Given the description of an element on the screen output the (x, y) to click on. 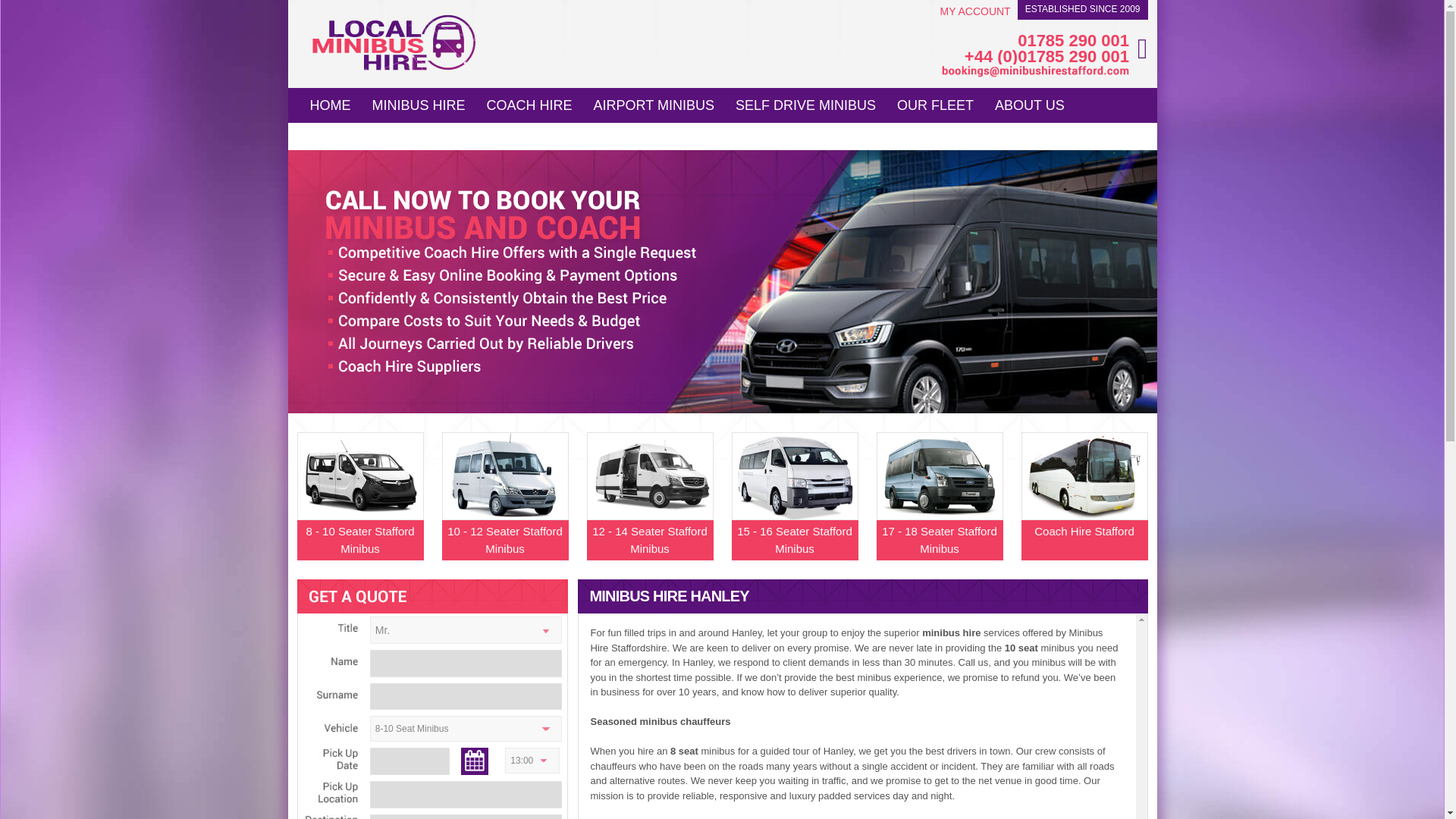
12 - 14 Seater Stafford Minibus (649, 510)
01785 290 001 (1034, 41)
MINIBUS HIRE (418, 102)
CONTACT US (352, 133)
ABOUT US (1029, 102)
MY ACCOUNT (975, 11)
Coach Hire Stafford (1083, 510)
COACH HIRE (529, 102)
17 - 18 Seater Stafford Minibus (939, 510)
Home (329, 102)
AIRPORT MINIBUS (654, 102)
15 - 16 Seater Stafford Minibus (793, 510)
8 - 10 Seater Stafford Minibus (360, 510)
OUR FLEET (935, 102)
10 - 12 Seater Stafford Minibus (504, 510)
